Given the description of an element on the screen output the (x, y) to click on. 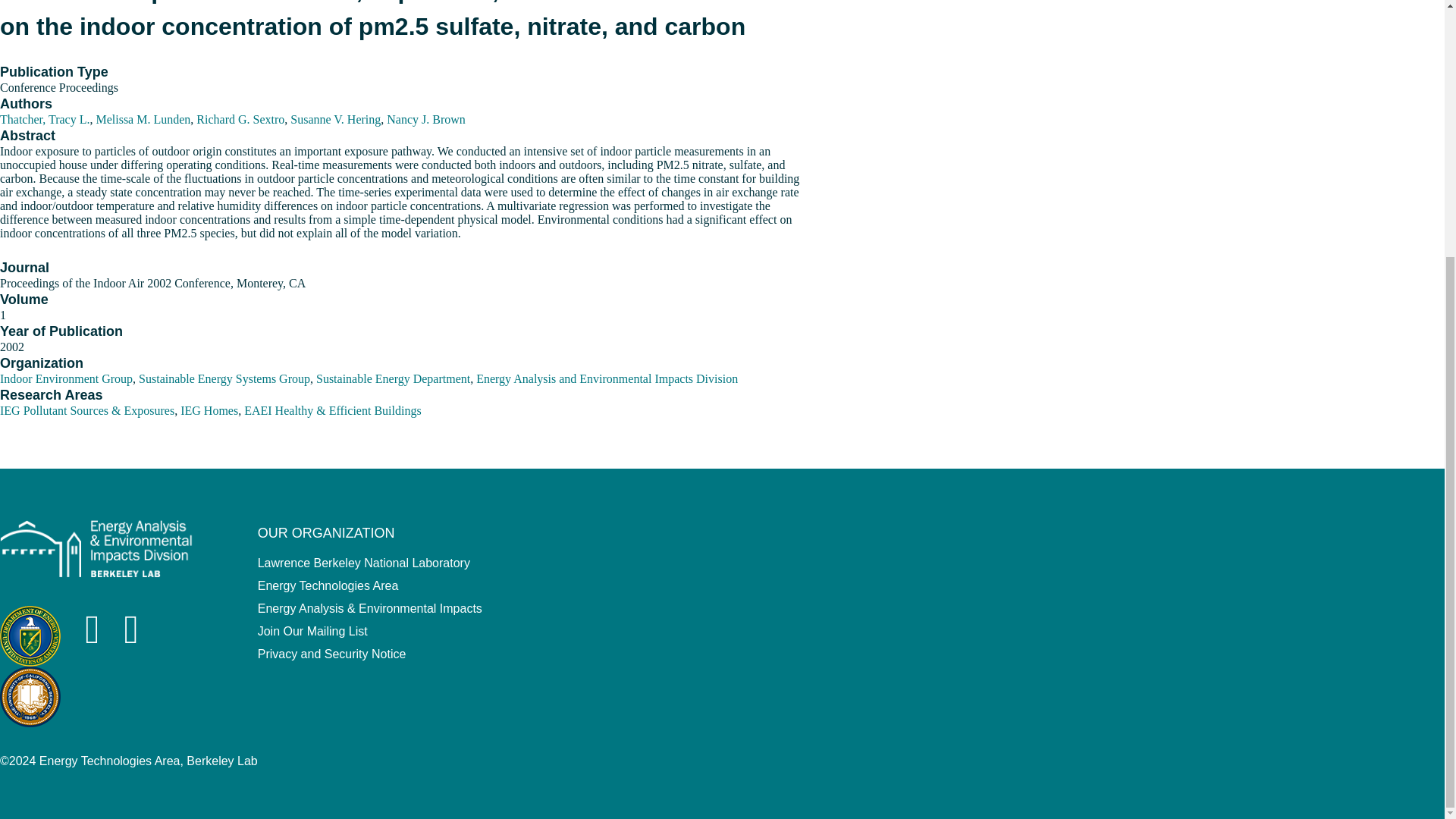
IEG Homes (209, 382)
Susanne V. Hering (334, 22)
Thatcher, Tracy L. (44, 22)
Sustainable Energy Department (392, 336)
Energy Analysis and Environmental Impacts Division (607, 336)
Nancy J. Brown (426, 22)
Indoor Environment Group (66, 336)
Melissa M. Lunden (143, 22)
Richard G. Sextro (239, 22)
Sustainable Energy Systems Group (224, 336)
